Given the description of an element on the screen output the (x, y) to click on. 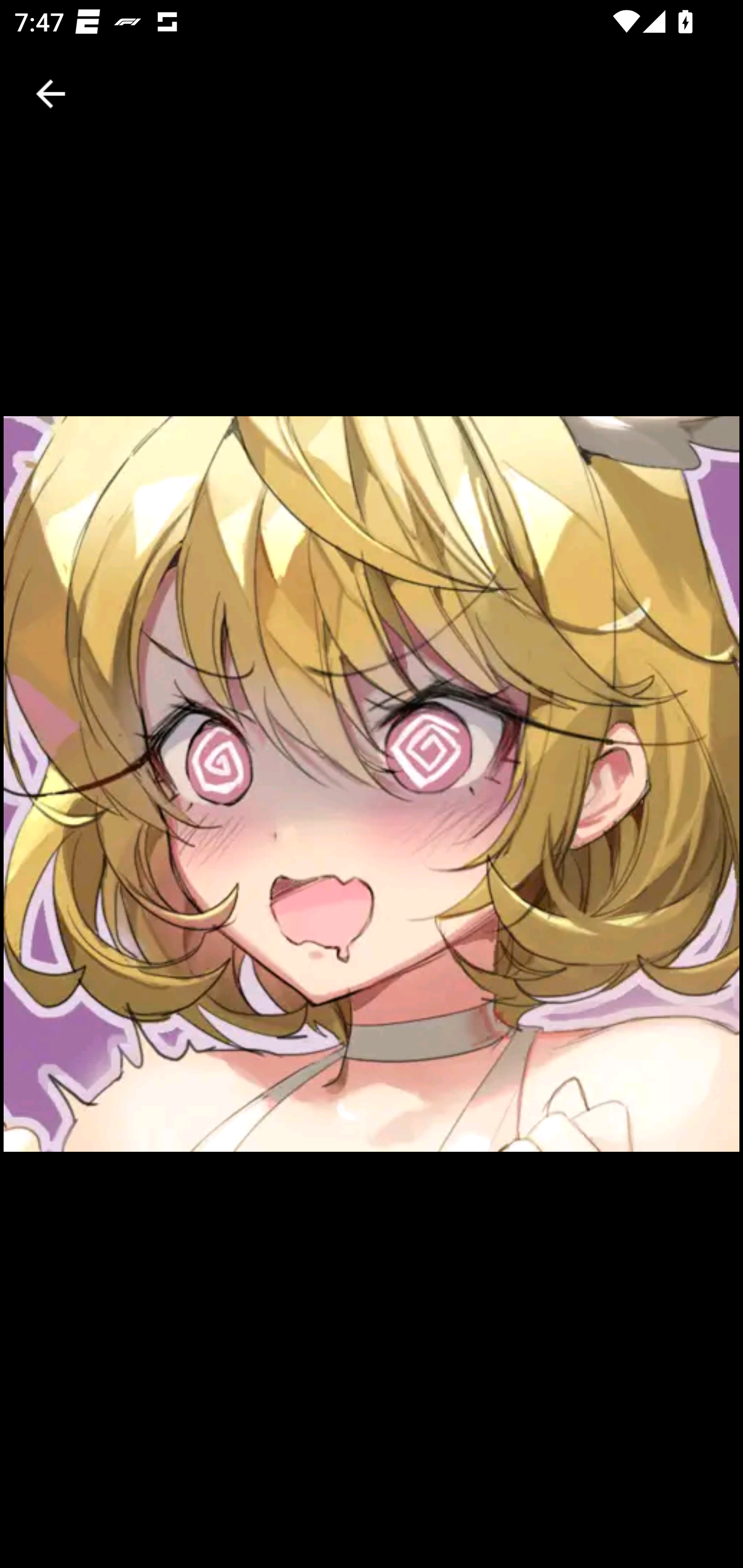
Back (50, 93)
